Given the description of an element on the screen output the (x, y) to click on. 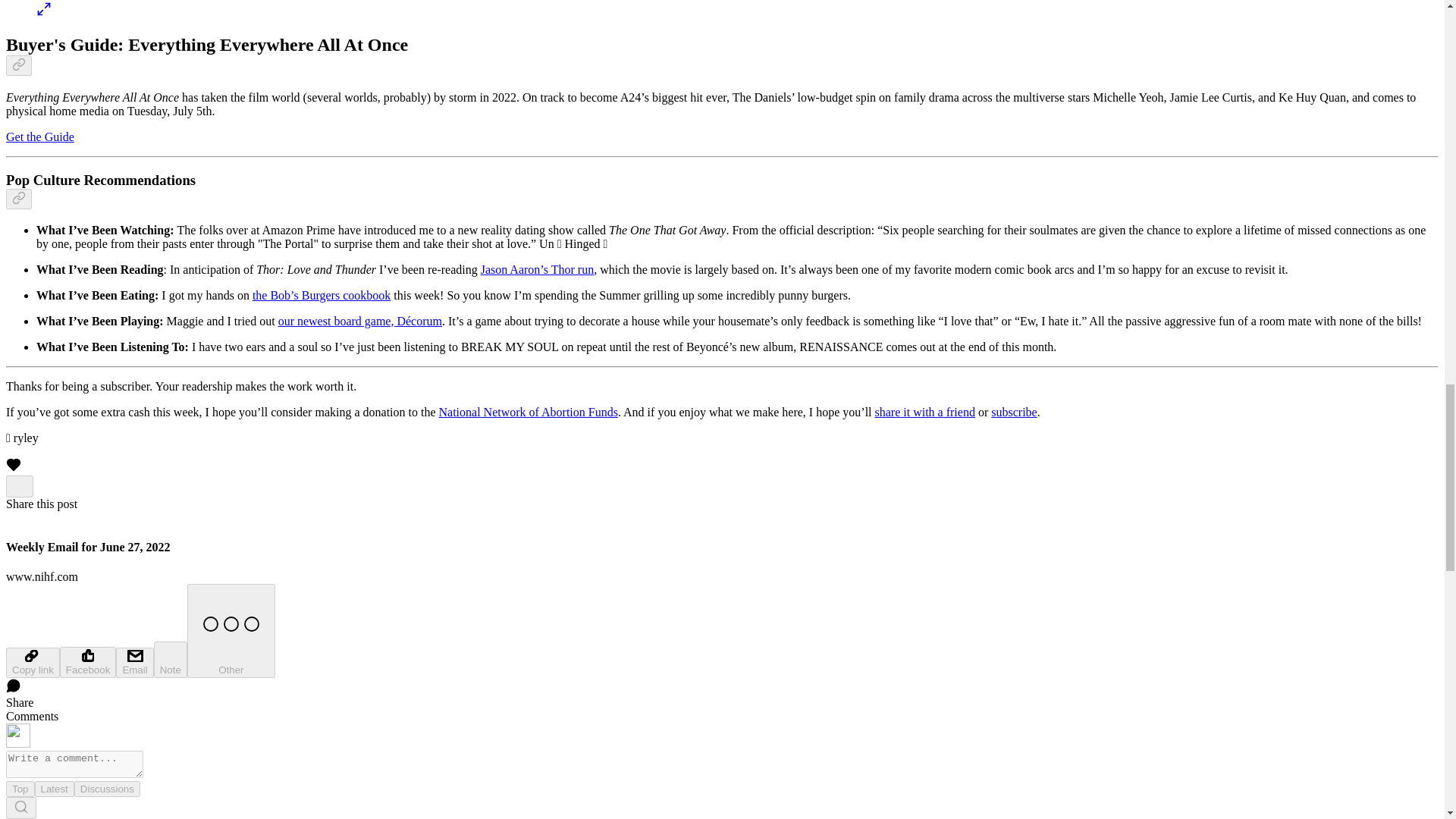
Get the Guide (39, 136)
share it with a friend (925, 411)
subscribe (1013, 411)
National Network of Abortion Funds (528, 411)
Copy link (32, 662)
